Given the description of an element on the screen output the (x, y) to click on. 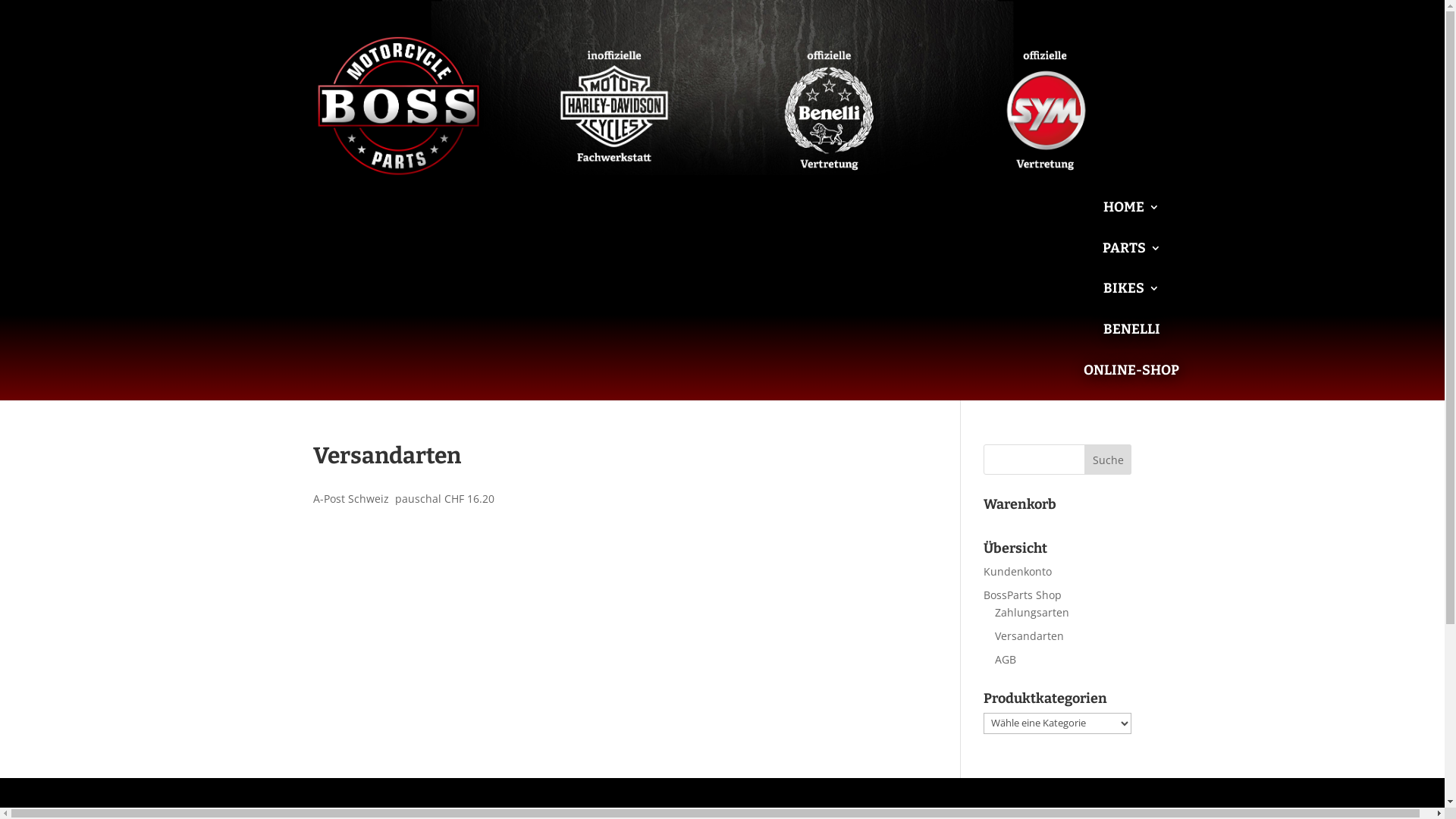
Suche Element type: text (1108, 459)
logo-header-sym Element type: hover (1045, 106)
ONLINE-SHOP Element type: text (1131, 381)
Zahlungsarten Element type: text (1031, 612)
PARTS Element type: text (1131, 259)
AGB Element type: text (1005, 659)
BIKES Element type: text (1131, 299)
logo-header-bossparts Element type: hover (397, 106)
BossParts Shop Element type: text (1022, 594)
HOME Element type: text (1131, 218)
BENELLI Element type: text (1131, 340)
logo-header-harley Element type: hover (613, 106)
logo-header-benelli Element type: hover (829, 106)
Versandarten Element type: text (1028, 635)
Kundenkonto Element type: text (1017, 571)
